Given the description of an element on the screen output the (x, y) to click on. 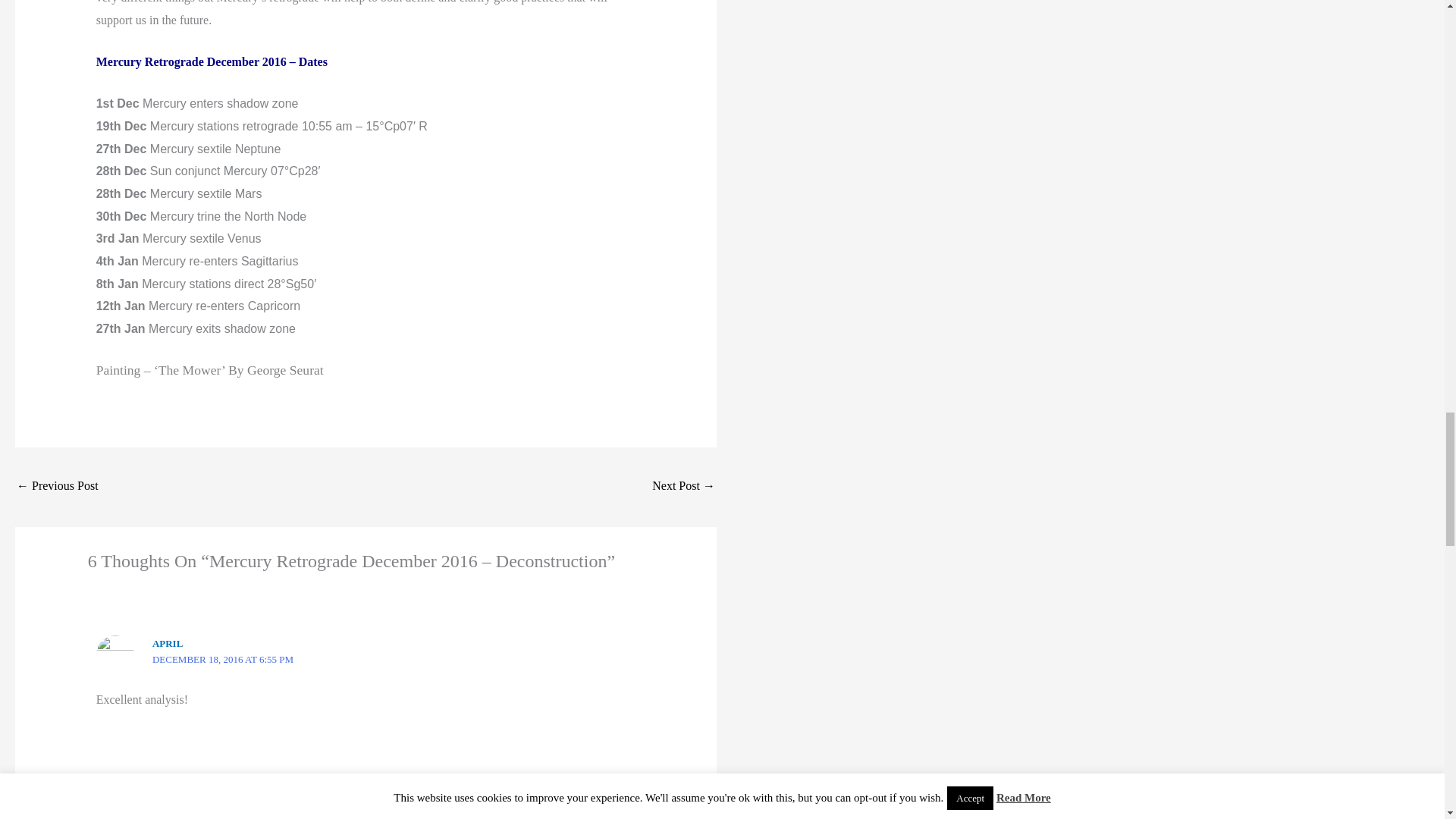
New Readings, Newsletter, Oracle and Soundcloud (683, 487)
DECEMBER 18, 2016 AT 6:55 PM (223, 659)
Full Moon in Gemini December 2016 - Babble (57, 487)
